Given the description of an element on the screen output the (x, y) to click on. 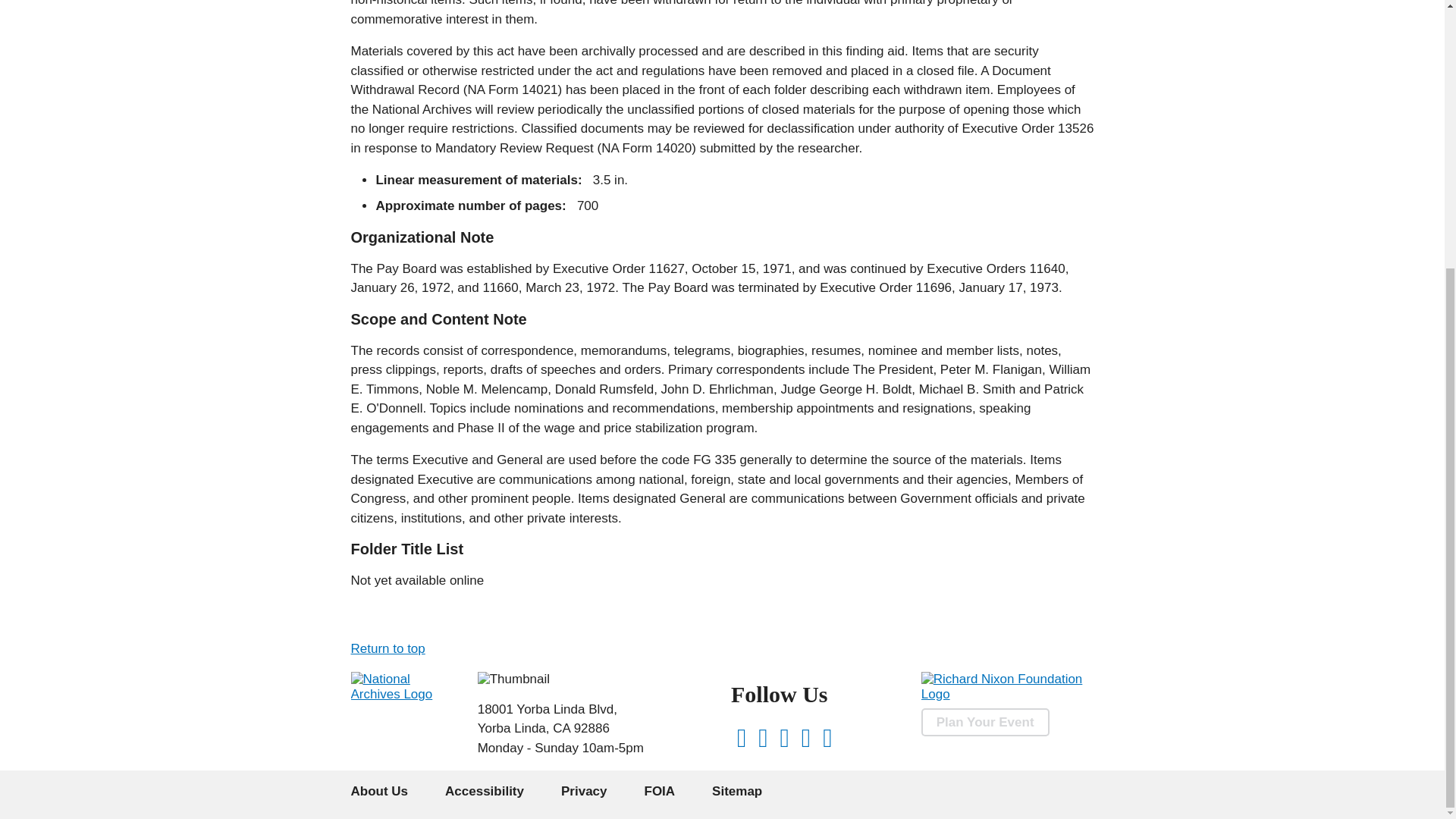
Richard Nixon Library and Museum Logo Color (513, 679)
National Archives Logo (405, 694)
